Given the description of an element on the screen output the (x, y) to click on. 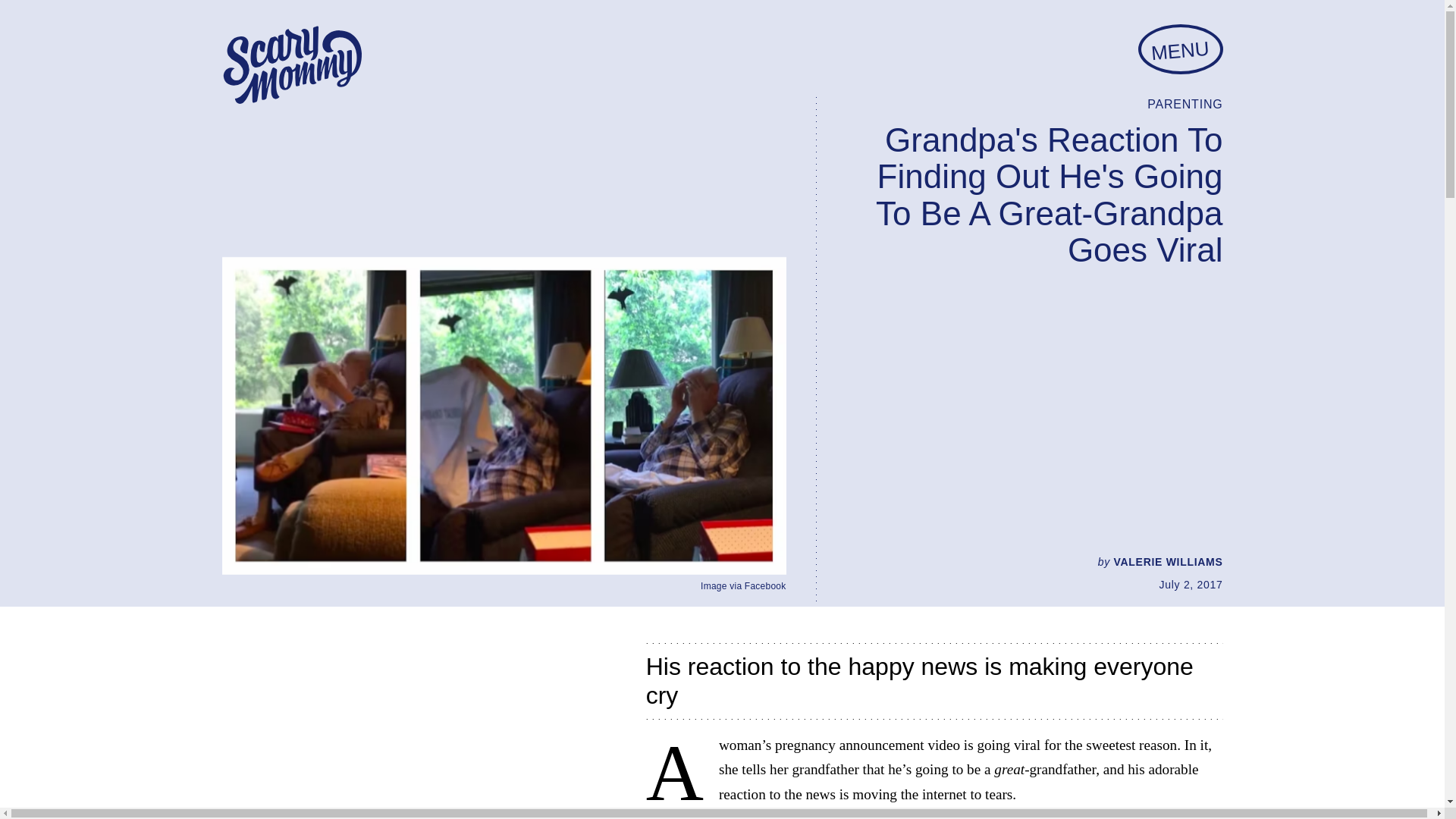
Scary Mommy (291, 64)
